Given the description of an element on the screen output the (x, y) to click on. 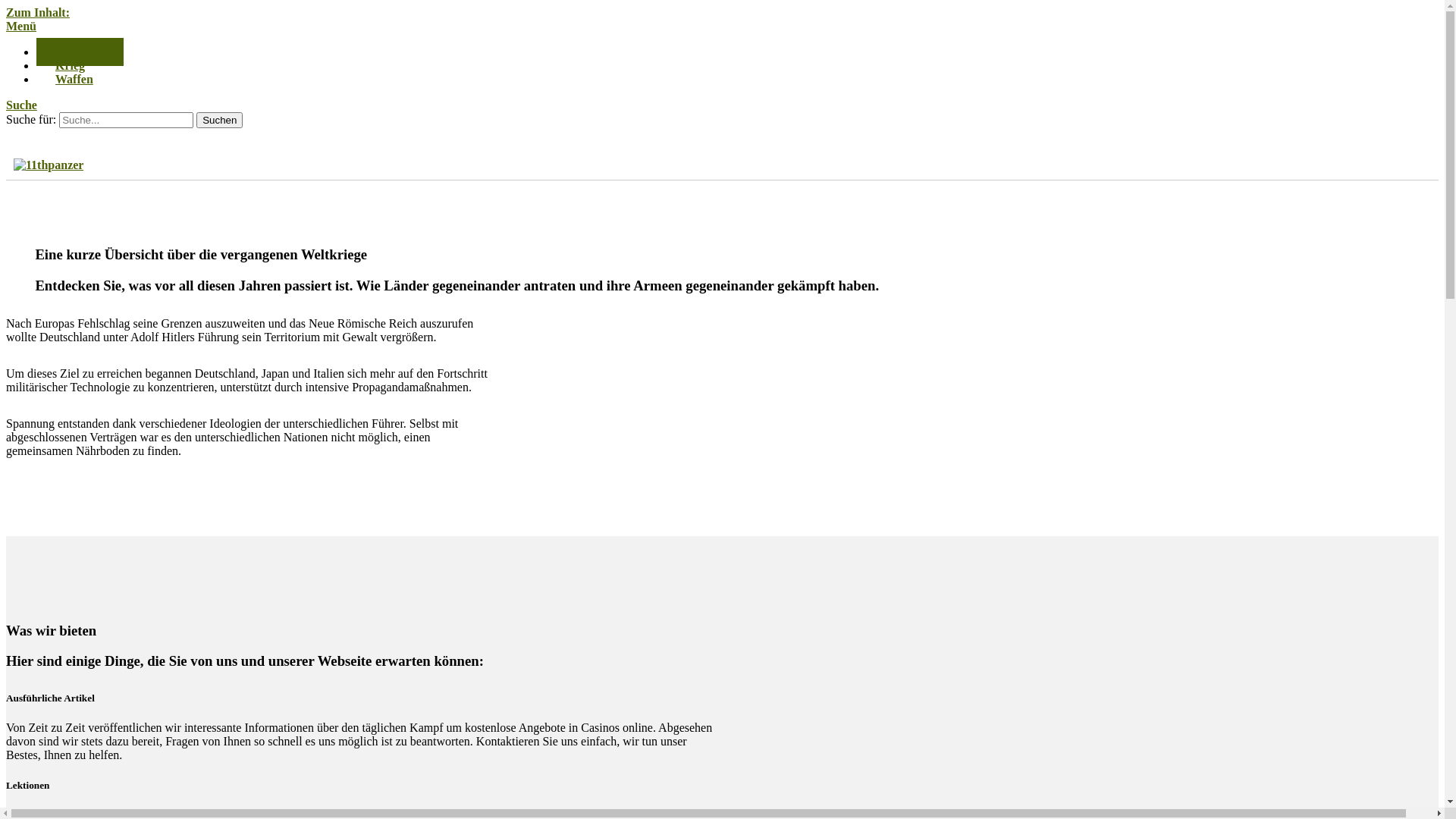
Suche Element type: text (21, 104)
11thpanzer Element type: hover (48, 165)
Zum Inhalt: Element type: text (37, 12)
Waffen Element type: text (74, 79)
Krieg Element type: text (69, 65)
Suchen Element type: text (219, 120)
Startseite Element type: text (79, 51)
